Given the description of an element on the screen output the (x, y) to click on. 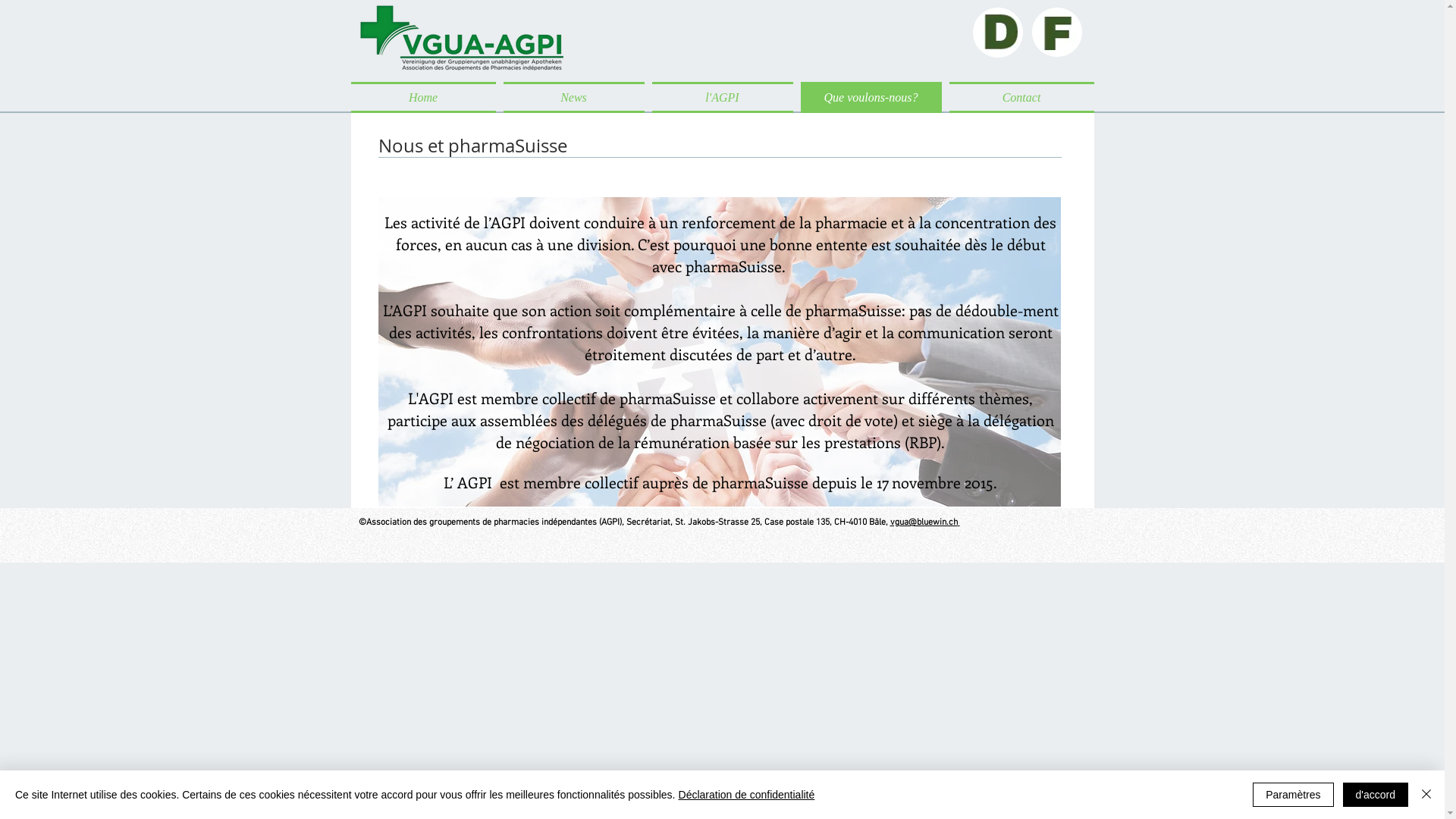
l'AGPI Element type: text (721, 96)
Contact Element type: text (1018, 96)
Que voulons-nous? Element type: text (870, 96)
Home Element type: text (424, 96)
d'accord Element type: text (1375, 794)
vgua@bluewin.ch Element type: text (923, 522)
News Element type: text (572, 96)
